Given the description of an element on the screen output the (x, y) to click on. 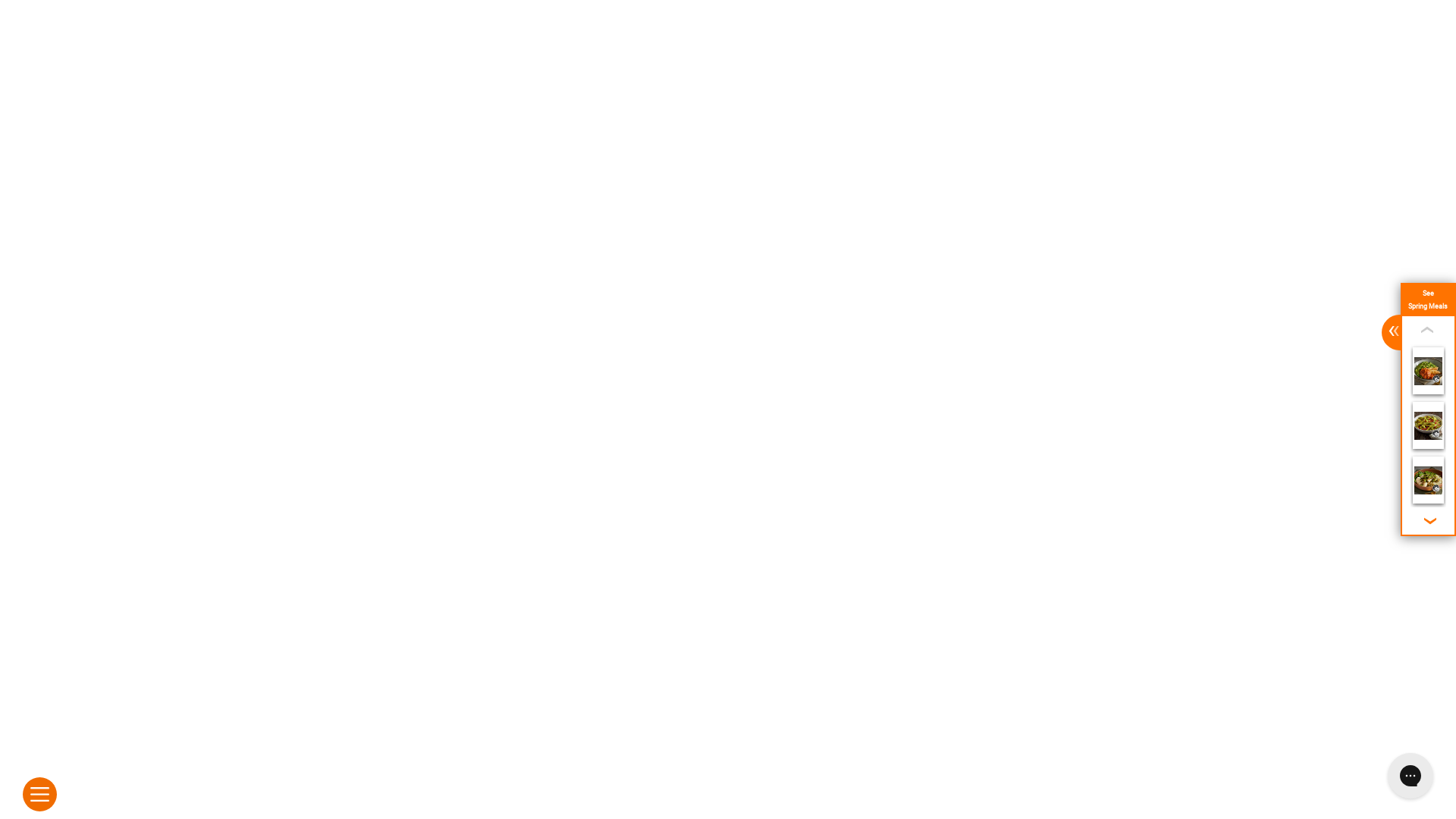
Gorgias live chat messenger Element type: hover (1410, 775)
